Given the description of an element on the screen output the (x, y) to click on. 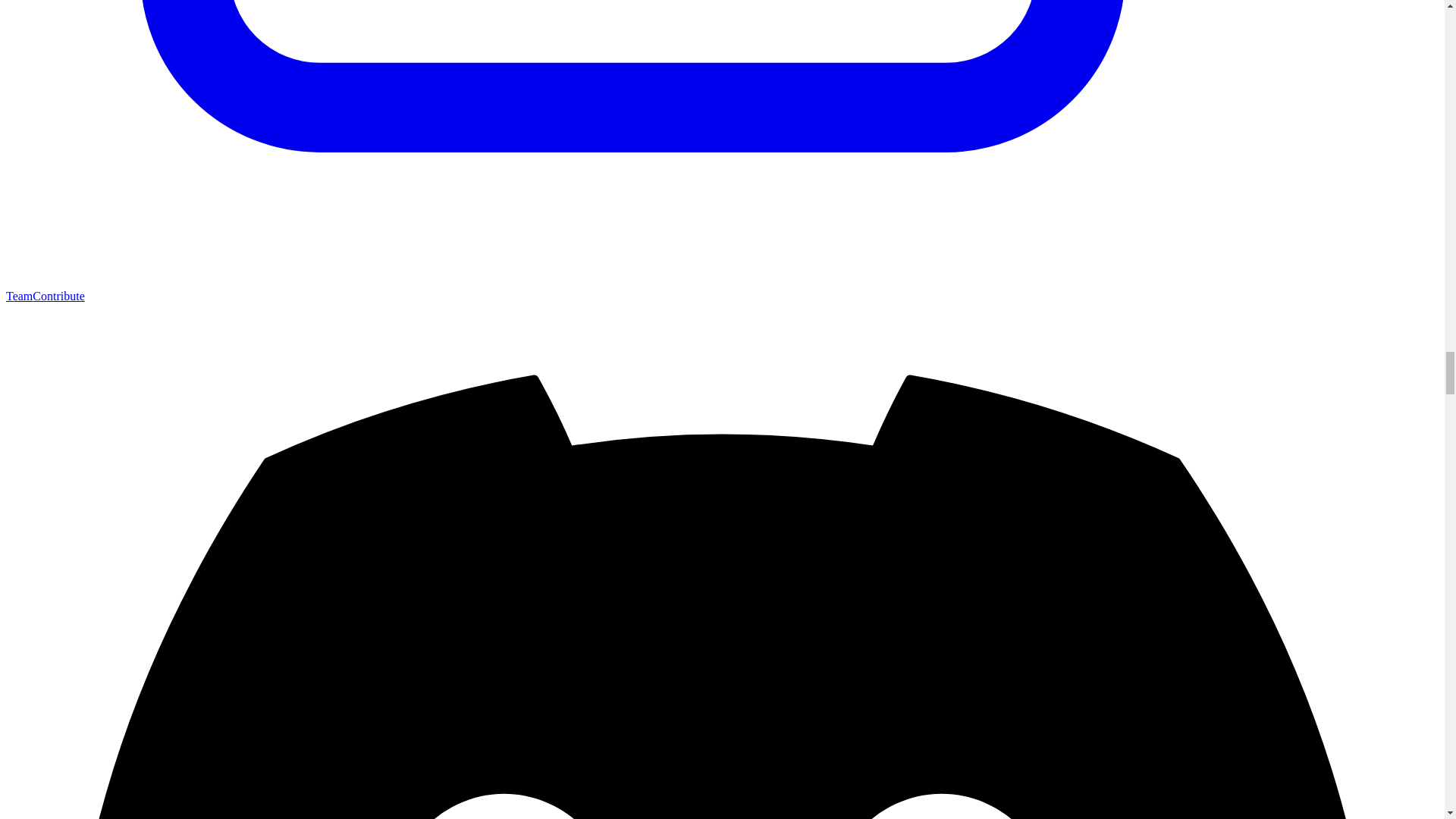
Team (18, 295)
Contribute (58, 295)
